Given the description of an element on the screen output the (x, y) to click on. 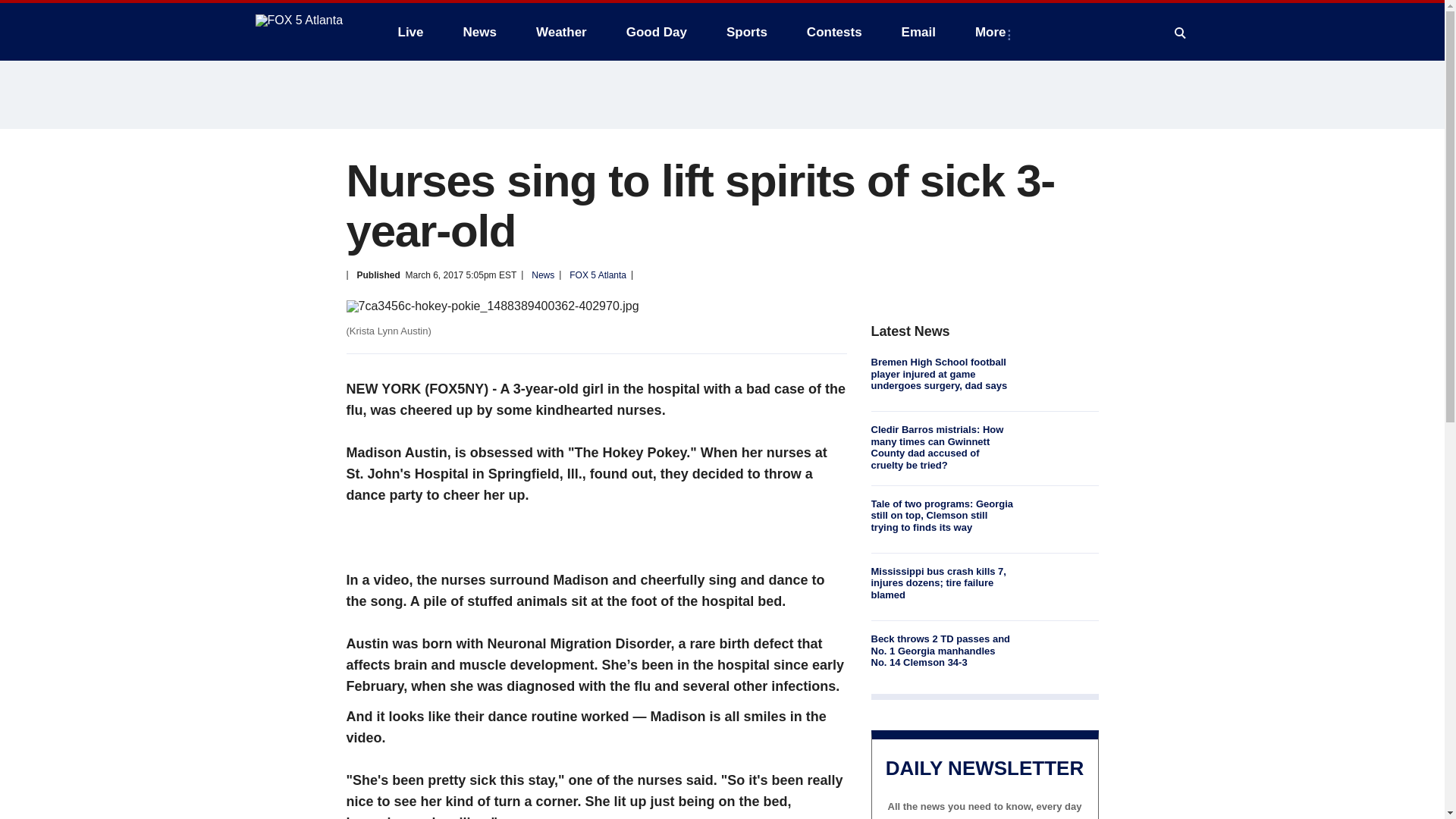
Live (410, 32)
Contests (834, 32)
More (993, 32)
Sports (746, 32)
Good Day (656, 32)
Weather (561, 32)
News (479, 32)
Email (918, 32)
